Given the description of an element on the screen output the (x, y) to click on. 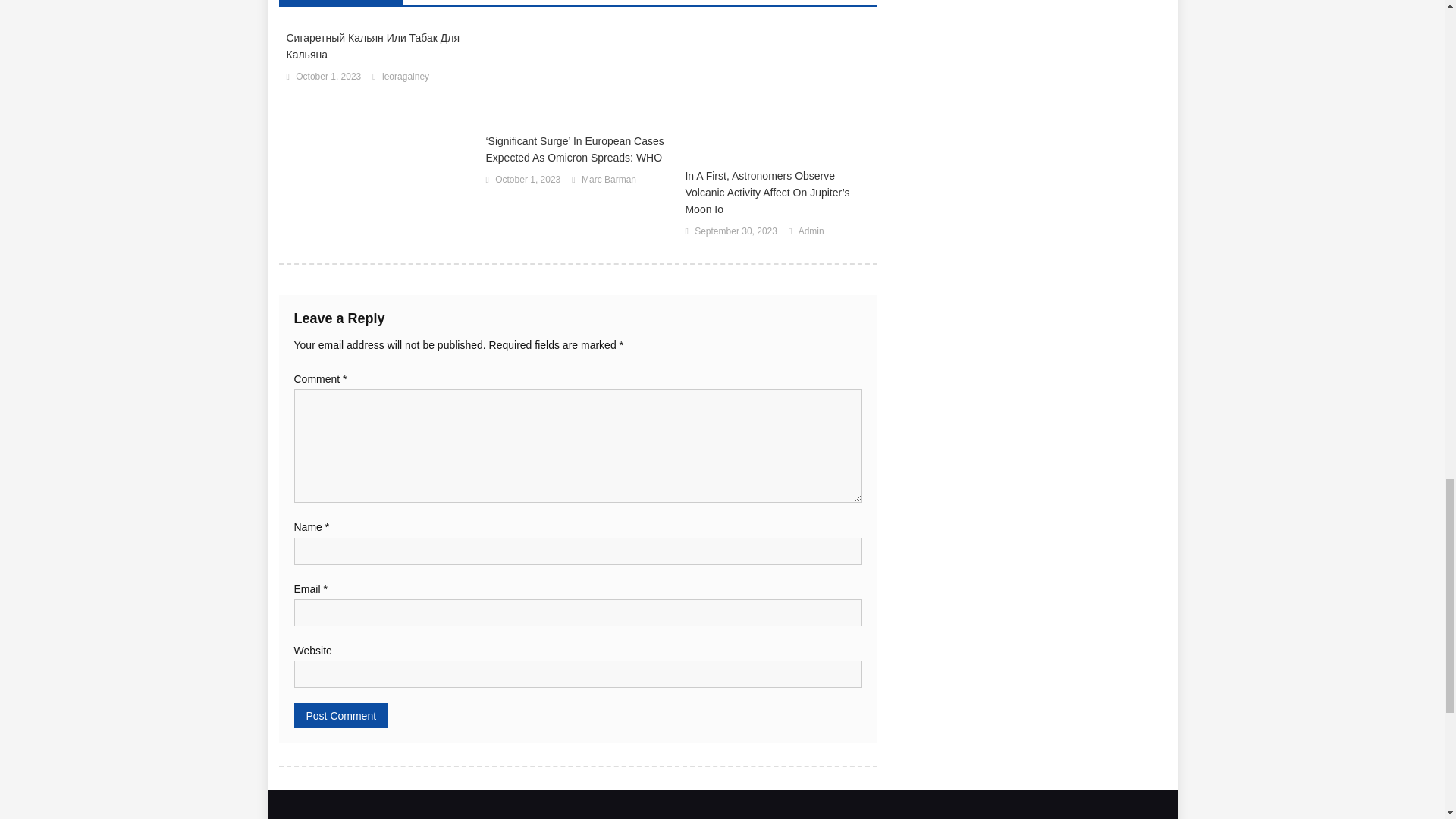
October 1, 2023 (328, 76)
Post Comment (341, 715)
leoragainey (405, 76)
Marc Barman (608, 180)
October 1, 2023 (527, 180)
